Given the description of an element on the screen output the (x, y) to click on. 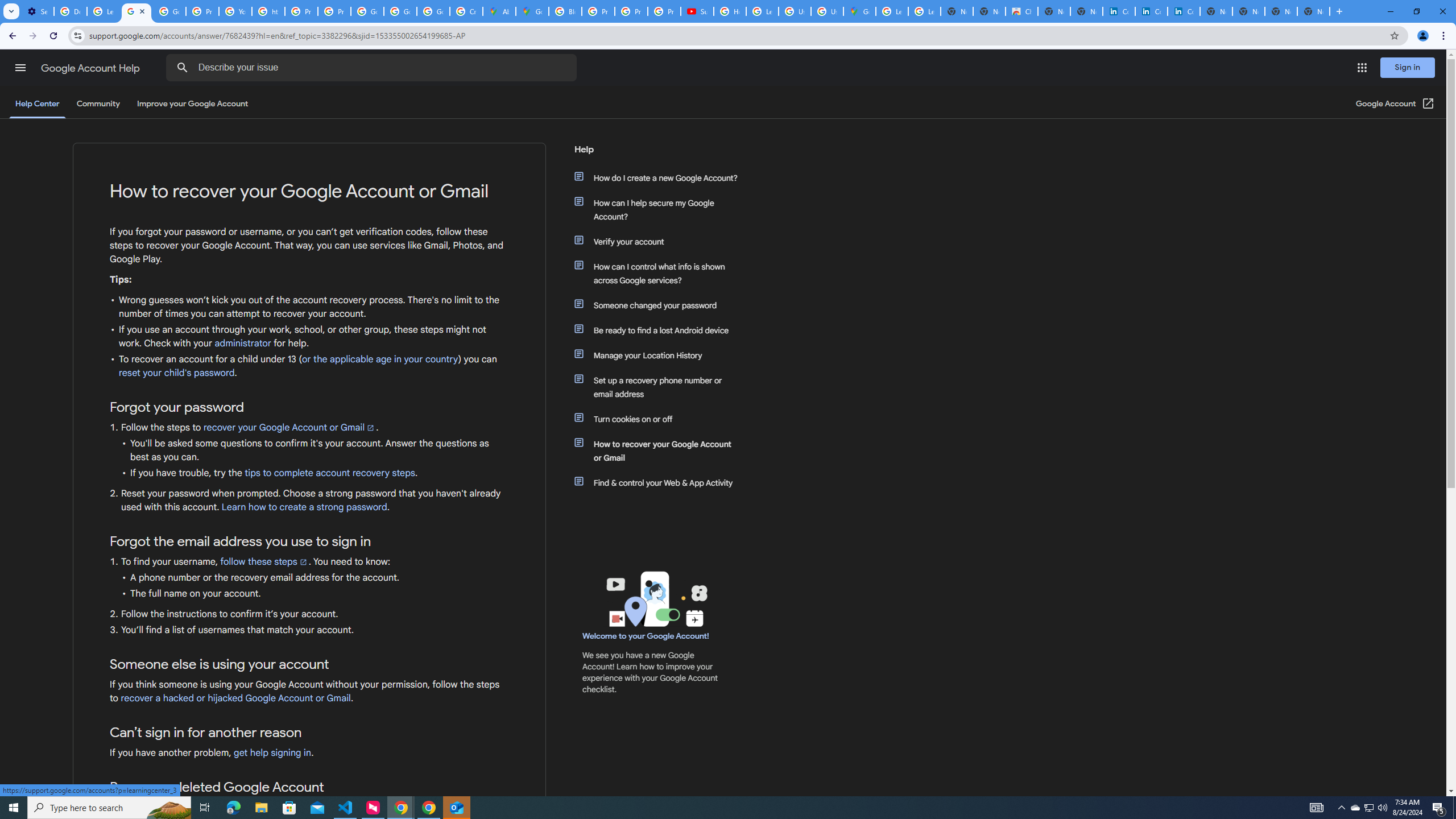
or the applicable age in your country (379, 359)
recover your Google Account or Gmail (289, 427)
administrator (242, 342)
Describe your issue (373, 67)
Privacy Help Center - Policies Help (202, 11)
Turn cookies on or off (661, 419)
Google Account Help (91, 68)
Subscriptions - YouTube (697, 11)
